Given the description of an element on the screen output the (x, y) to click on. 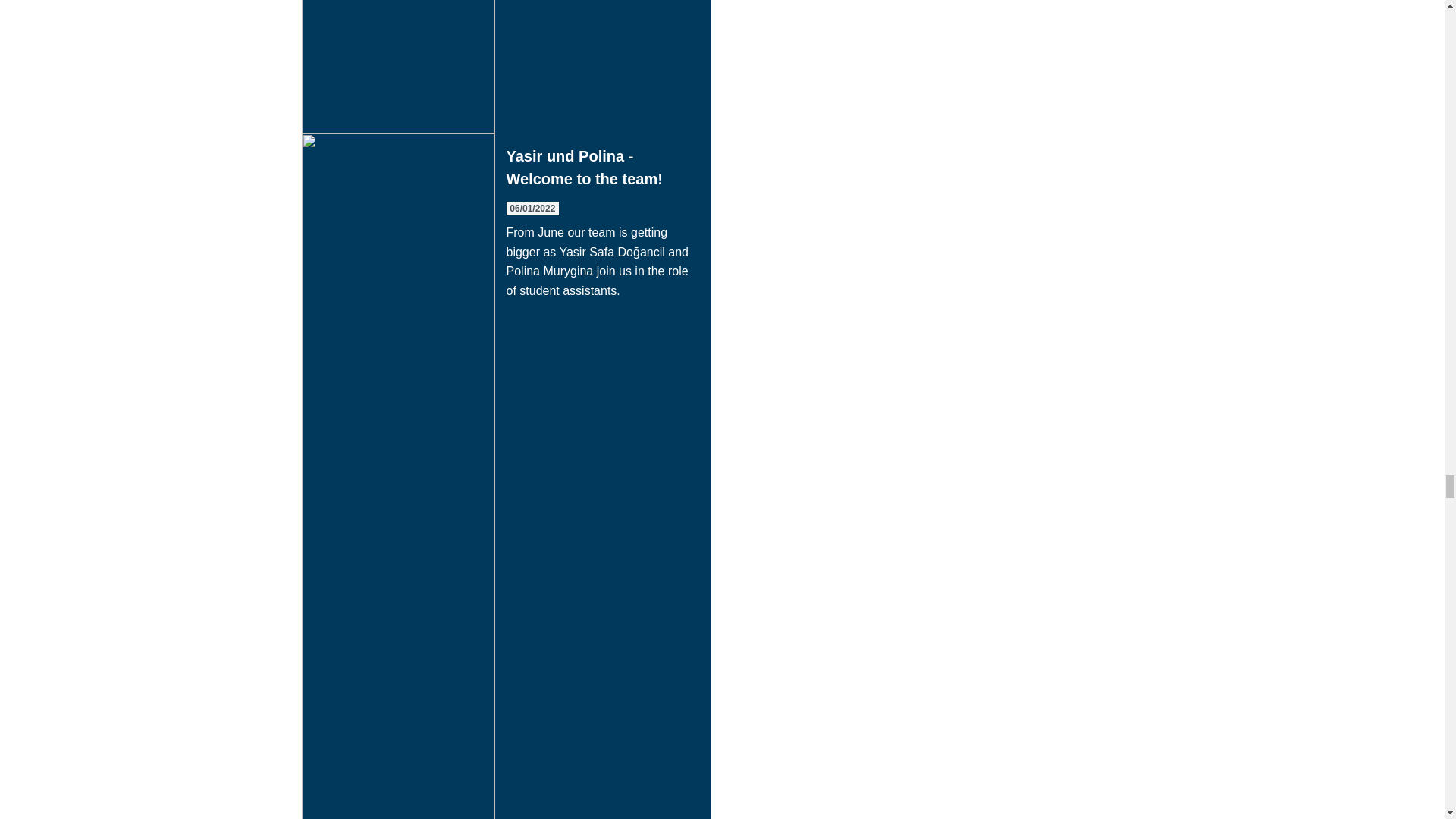
Field trip to Portugal (506, 67)
